Given the description of an element on the screen output the (x, y) to click on. 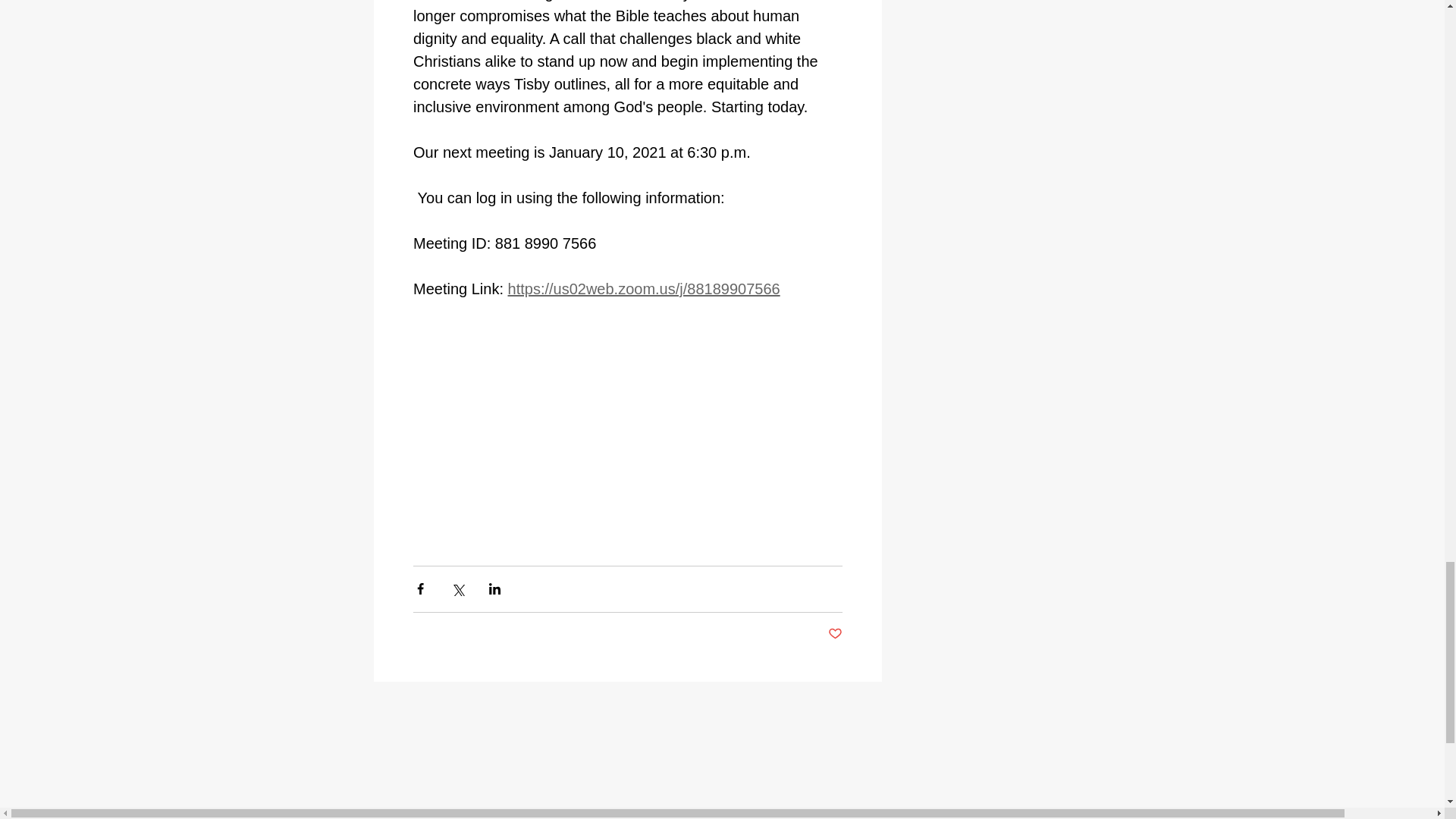
Post not marked as liked (835, 634)
